Given the description of an element on the screen output the (x, y) to click on. 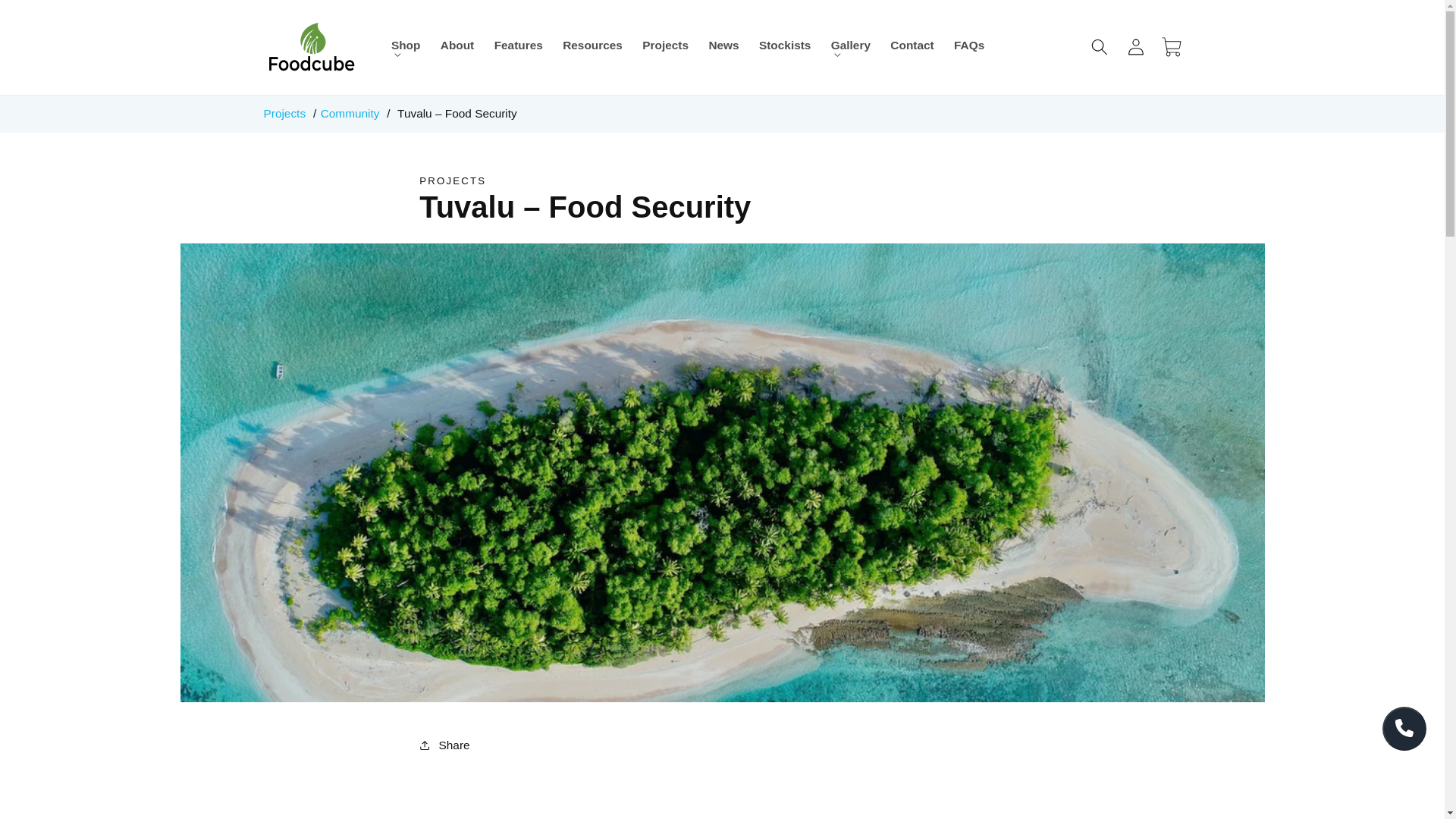
Skip to content (50, 19)
Show articles tagged Community (350, 113)
Shop (405, 46)
